Given the description of an element on the screen output the (x, y) to click on. 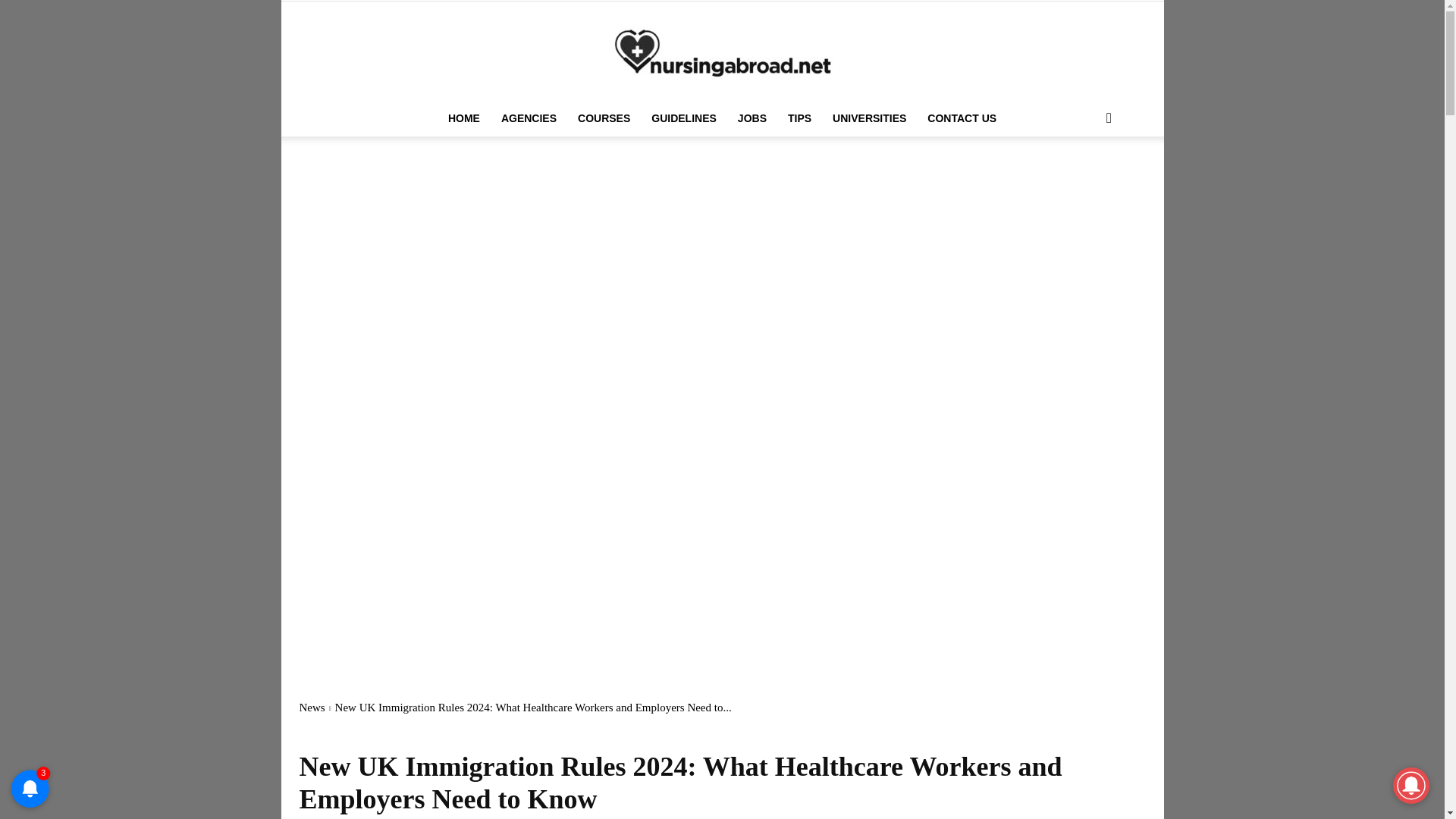
UNIVERSITIES (869, 117)
COURSES (603, 117)
News (311, 707)
AGENCIES (528, 117)
Nursing Abroad (722, 51)
JOBS (751, 117)
Search (1085, 178)
TIPS (799, 117)
View all posts in News (311, 707)
GUIDELINES (683, 117)
CONTACT US (962, 117)
HOME (464, 117)
